Given the description of an element on the screen output the (x, y) to click on. 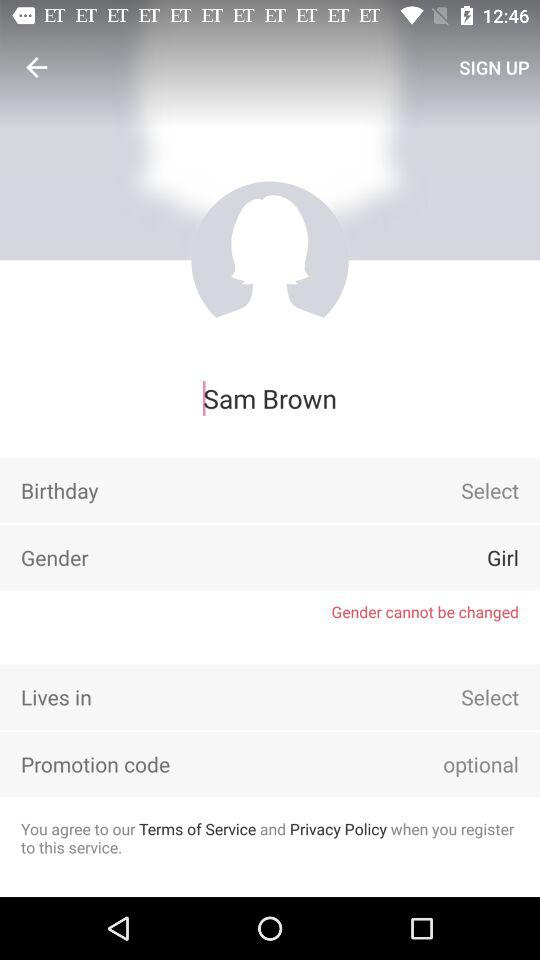
open icon next to sign up (36, 67)
